Given the description of an element on the screen output the (x, y) to click on. 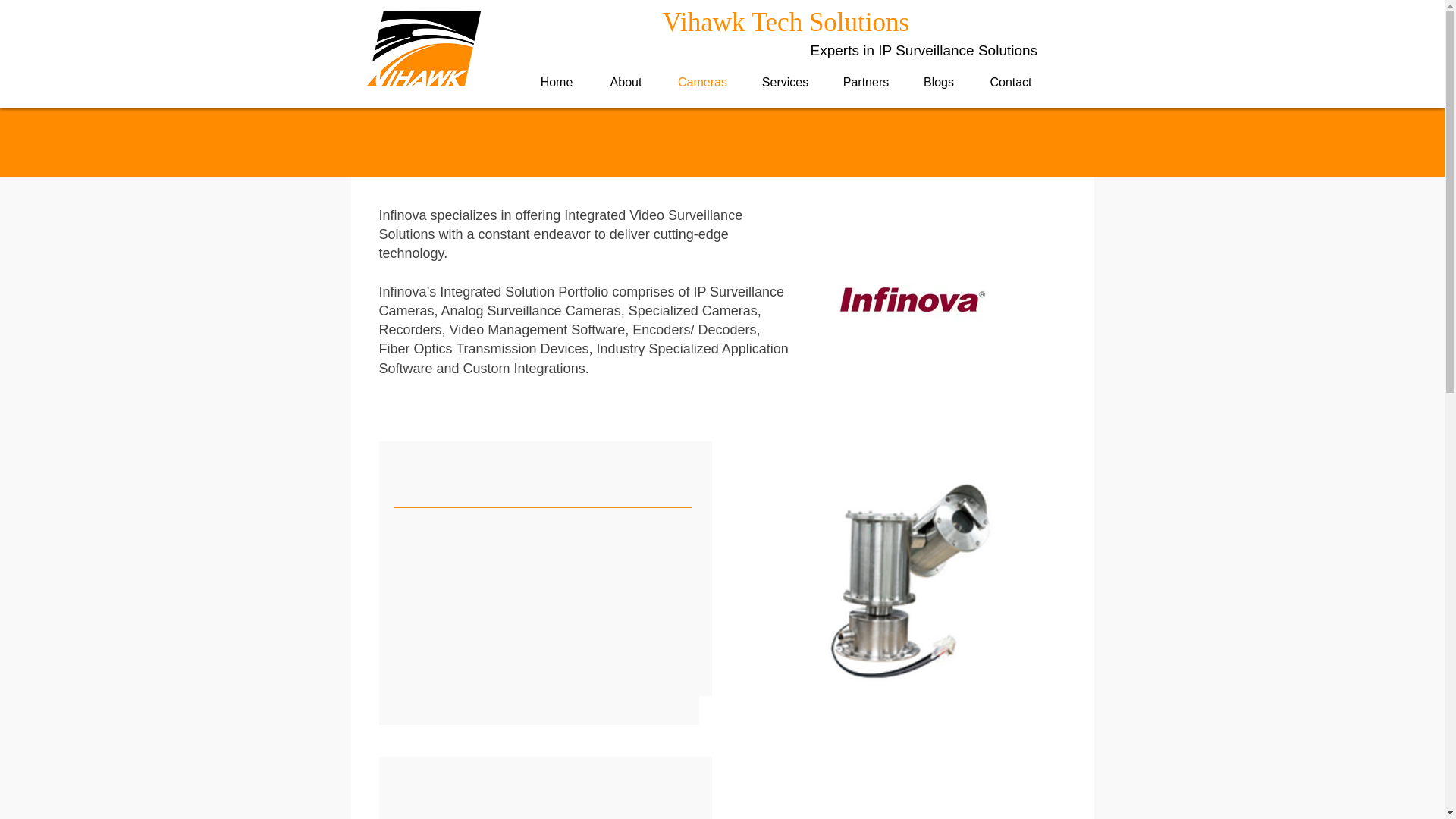
Blogs (938, 82)
Contact (1010, 82)
Home (556, 82)
Cameras (702, 82)
Partners (866, 82)
Services (785, 82)
Rugged Cameras.jpg (899, 800)
